Given the description of an element on the screen output the (x, y) to click on. 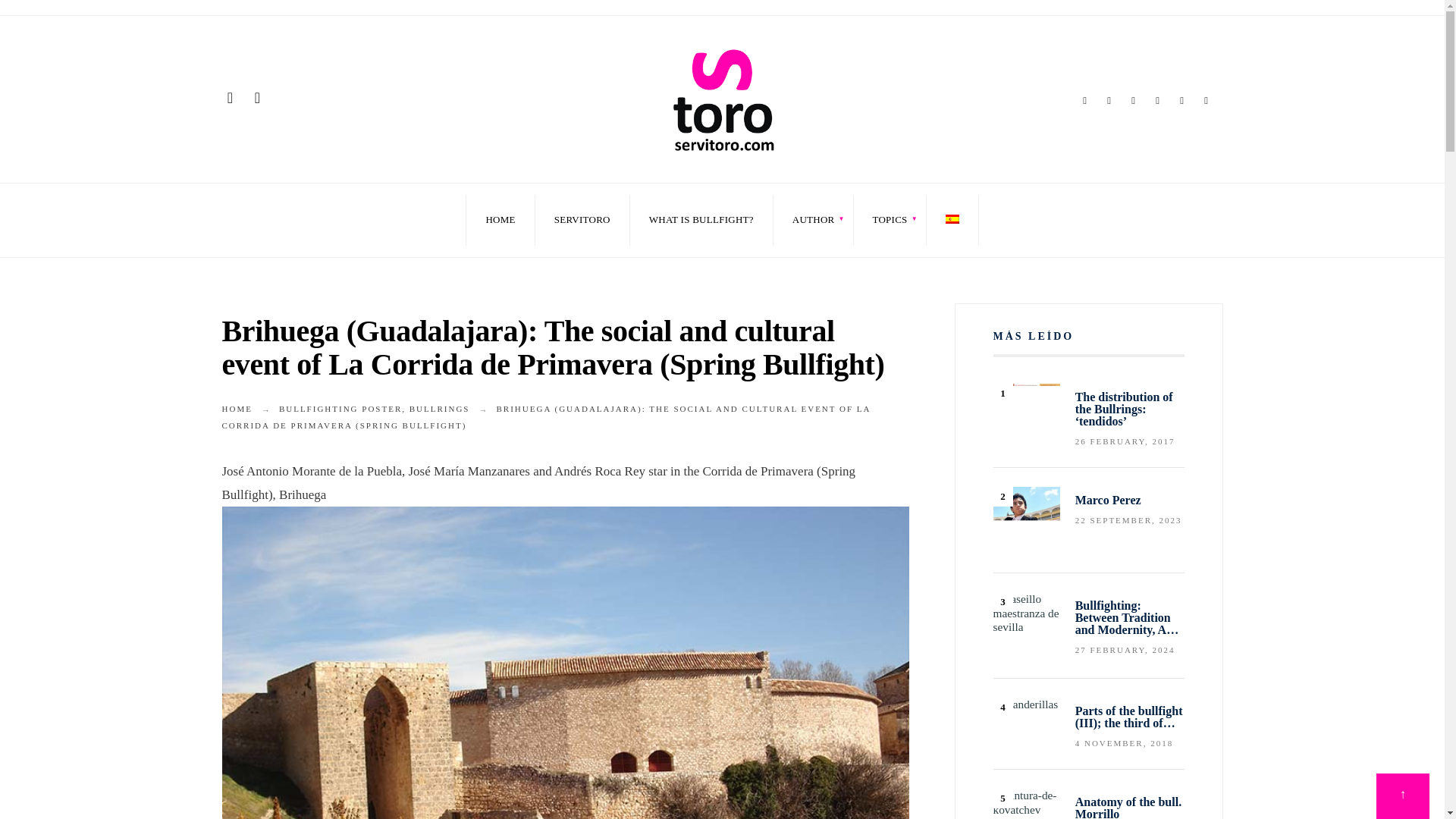
YouTube (1181, 101)
Facebook (1083, 101)
WhatsApp (1205, 101)
Instagram (1132, 101)
AUTHOR (813, 219)
Marco Perez (1025, 519)
Anatomy of the bull. Morrillo (1025, 803)
SERVITORO (582, 219)
Twitter (1108, 101)
WHAT IS BULLFIGHT? (700, 219)
The distribution of the Bullrings: 'tendidos' (1025, 406)
Pinterest (1156, 101)
TOPICS (890, 219)
HOME (500, 219)
